Given the description of an element on the screen output the (x, y) to click on. 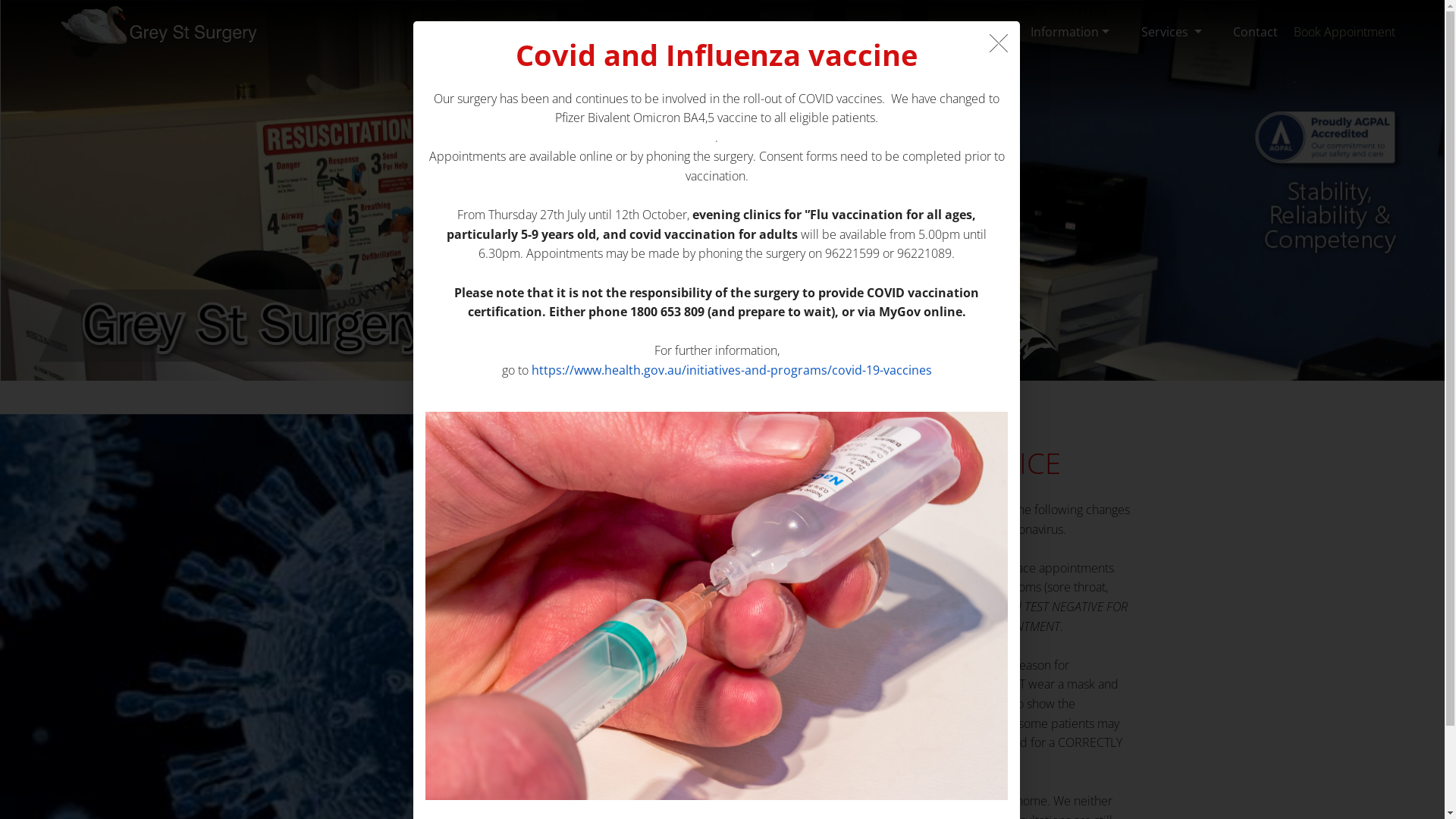
Book Appointment Element type: text (1344, 31)
Home Element type: text (773, 32)
Information Element type: text (1069, 32)
Our Team Element type: text (964, 32)
Accreditation Element type: text (861, 32)
Contact Element type: text (1255, 32)
Services Element type: text (1171, 32)
